Given the description of an element on the screen output the (x, y) to click on. 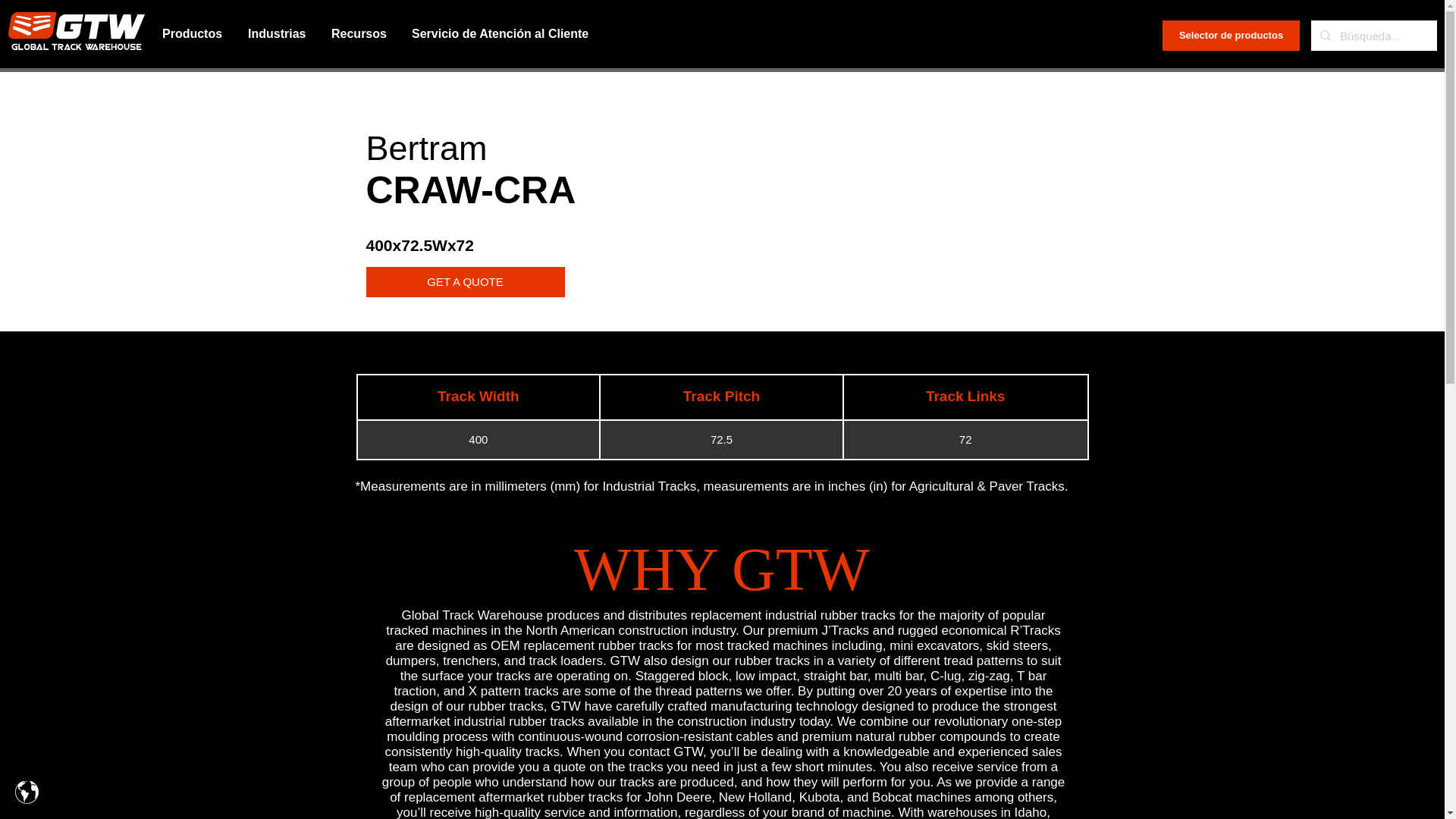
Industrias (277, 34)
Selector de productos (1230, 35)
Recursos (360, 34)
GET A QUOTE (464, 281)
Productos (193, 34)
